Given the description of an element on the screen output the (x, y) to click on. 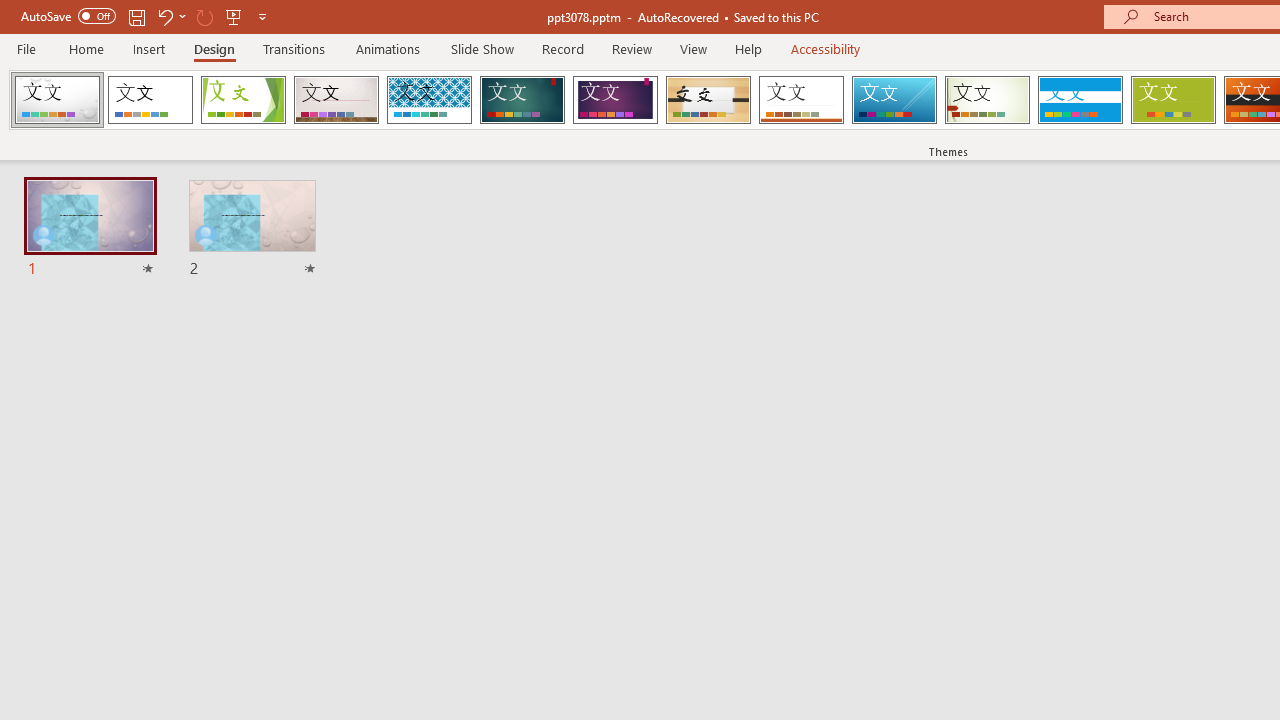
Wisp (987, 100)
Droplet (57, 100)
Retrospect (801, 100)
Slice (893, 100)
Ion (522, 100)
Ion Boardroom (615, 100)
